Given the description of an element on the screen output the (x, y) to click on. 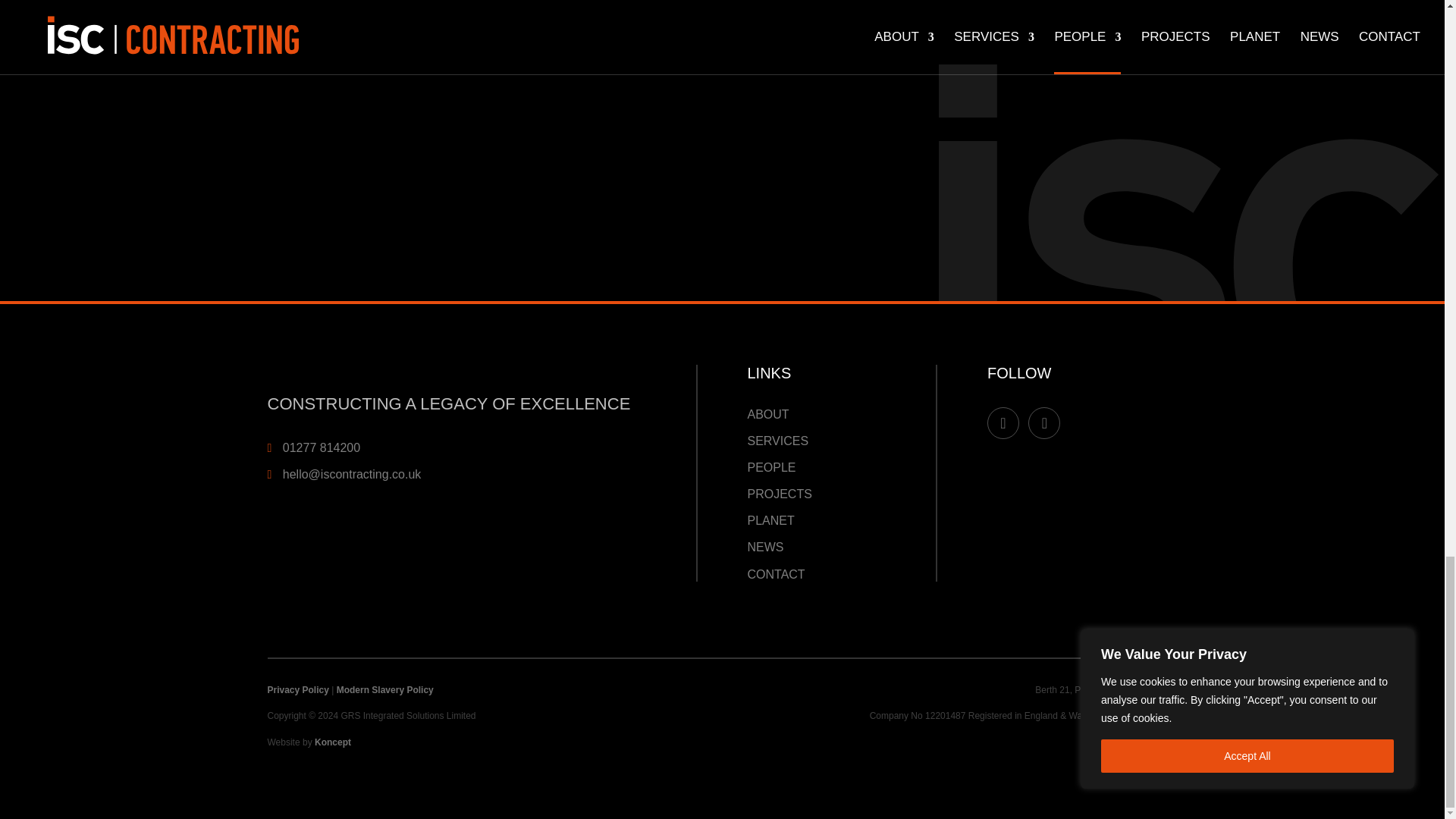
01277 814200 (320, 447)
